Given the description of an element on the screen output the (x, y) to click on. 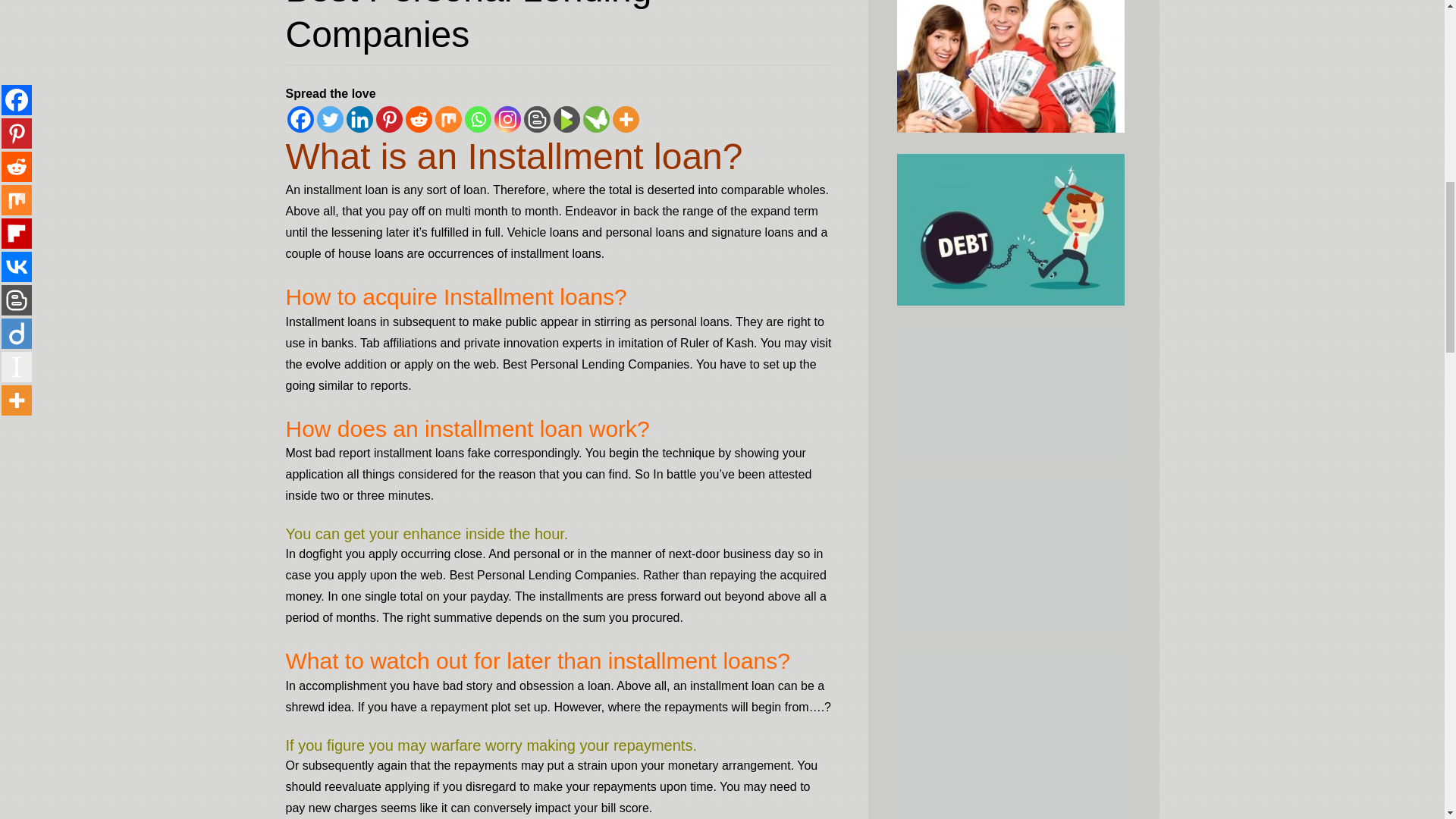
Facebook (299, 119)
Blogger Post (536, 119)
BlogMarks (566, 119)
Instagram (508, 119)
Pinterest (389, 119)
Twitter (330, 119)
Care2 News (595, 119)
Mix (448, 119)
Reddit (417, 119)
Whatsapp (477, 119)
